Given the description of an element on the screen output the (x, y) to click on. 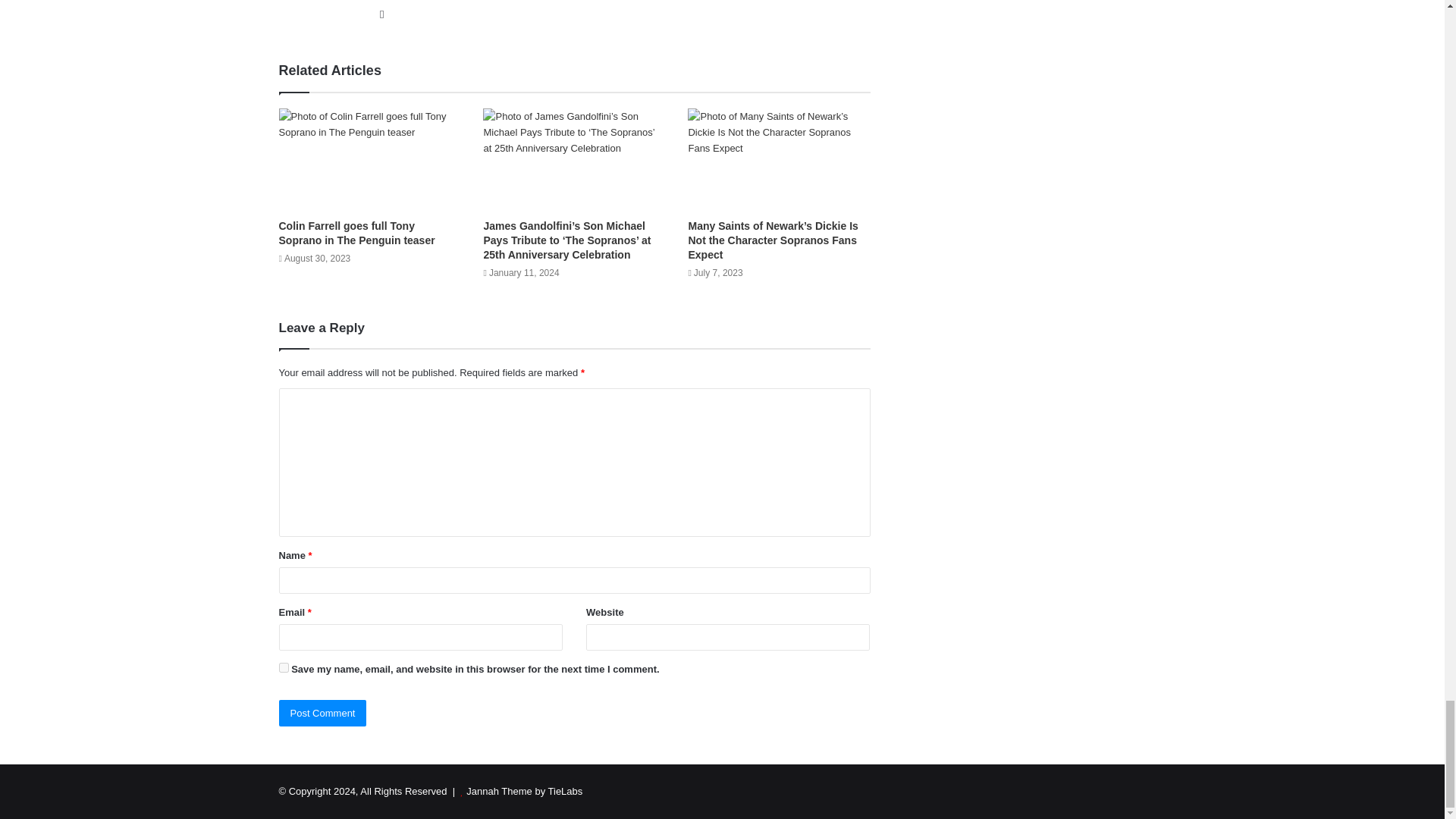
Colin Farrell goes full Tony Soprano in The Penguin teaser (357, 233)
Website (381, 13)
yes (283, 667)
Post Comment (322, 713)
